Given the description of an element on the screen output the (x, y) to click on. 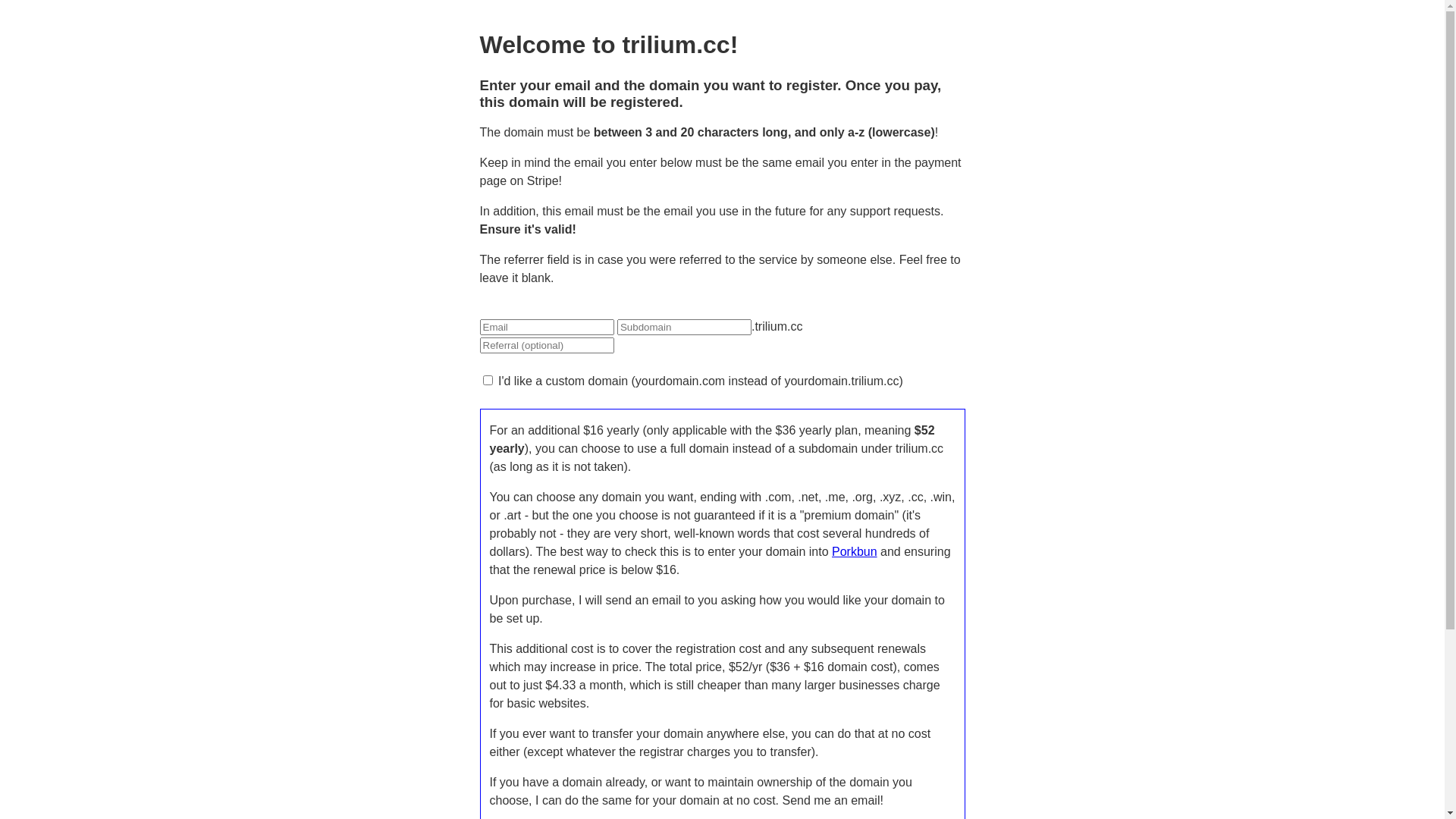
Porkbun Element type: text (854, 551)
